Given the description of an element on the screen output the (x, y) to click on. 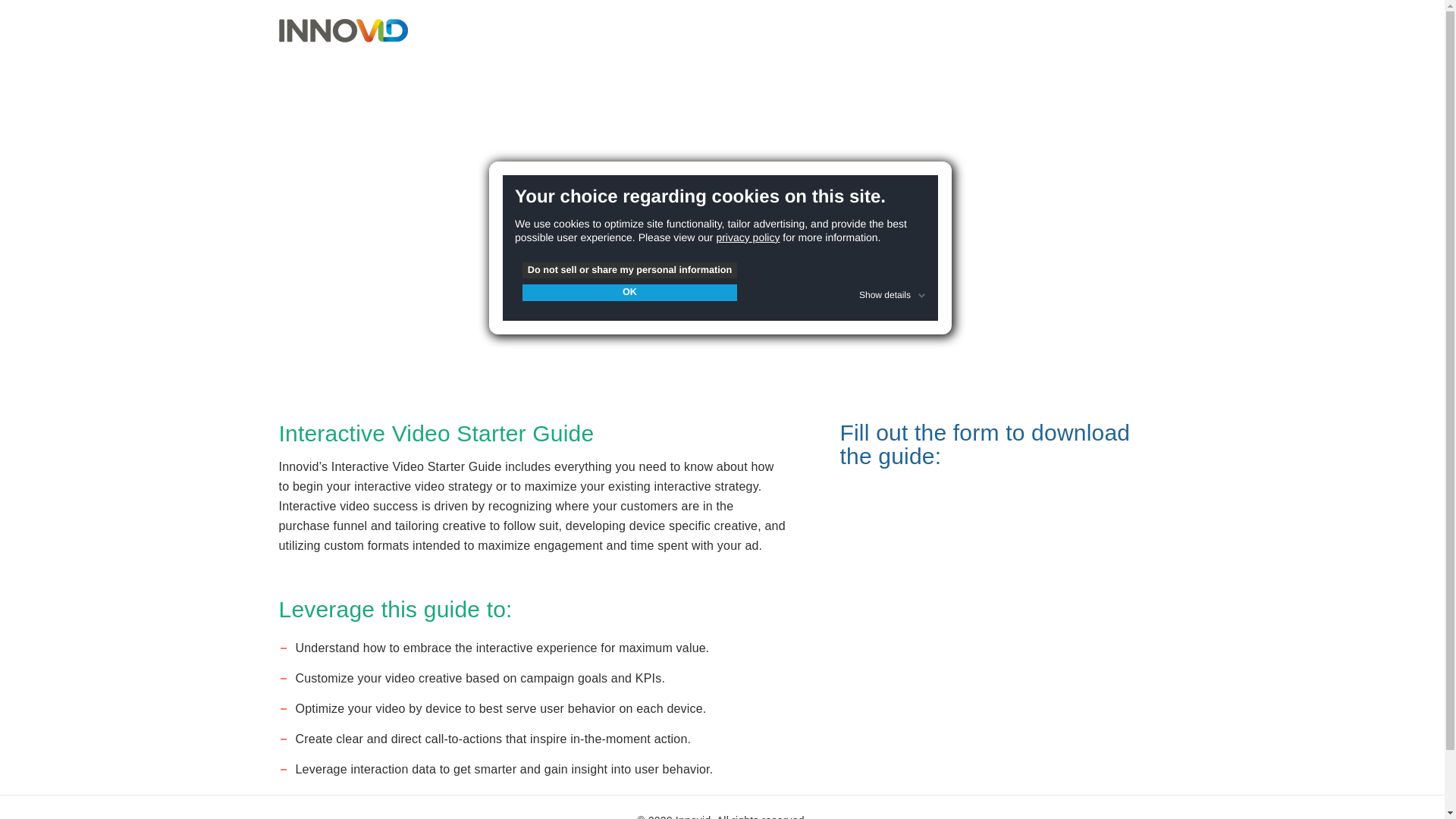
privacy policy (747, 236)
Do not sell or share my personal information (629, 270)
Show details (893, 292)
OK (629, 292)
